Given the description of an element on the screen output the (x, y) to click on. 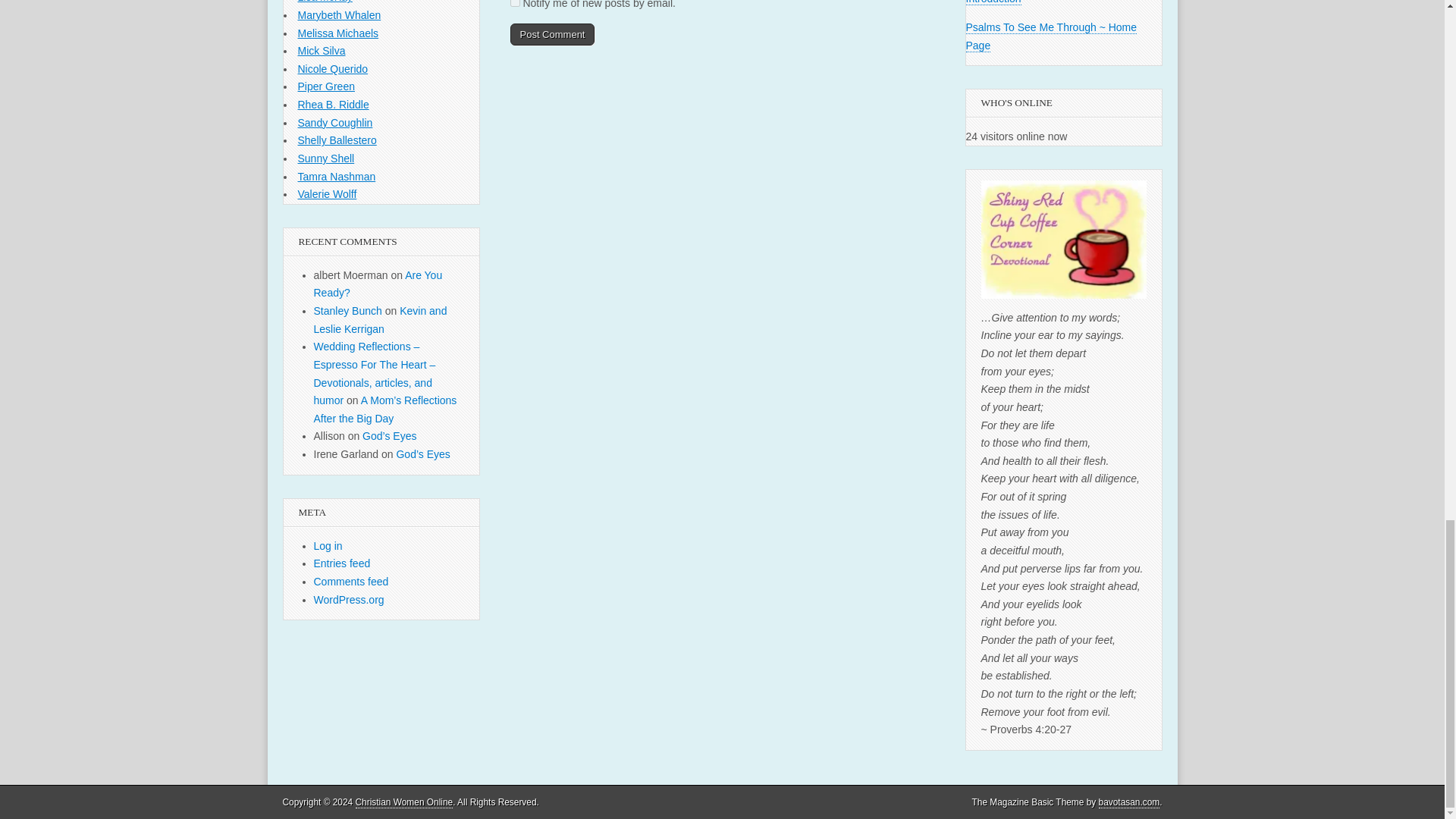
subscribe (514, 3)
Post Comment (551, 34)
Post Comment (551, 34)
